Given the description of an element on the screen output the (x, y) to click on. 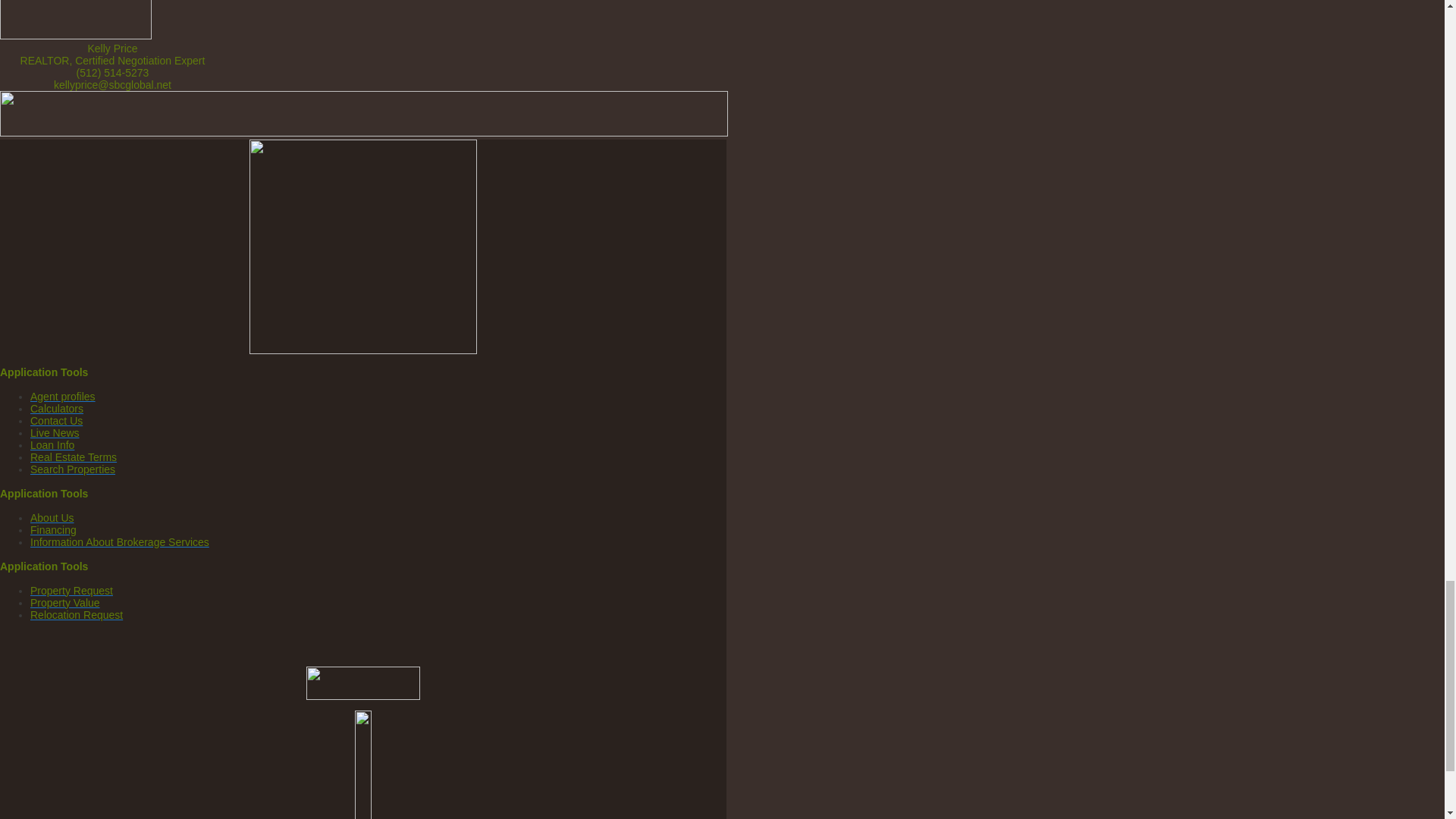
Live News (55, 432)
Contact Us (56, 420)
Relocation Request (76, 614)
Real Estate Terms (73, 457)
About Us (52, 517)
Calculators (56, 408)
Search Properties (72, 469)
Loan Info (52, 444)
Financing (53, 530)
Information About Brokerage Services (119, 541)
Agent profiles (63, 396)
Property Request (71, 590)
Property Value (65, 603)
